Given the description of an element on the screen output the (x, y) to click on. 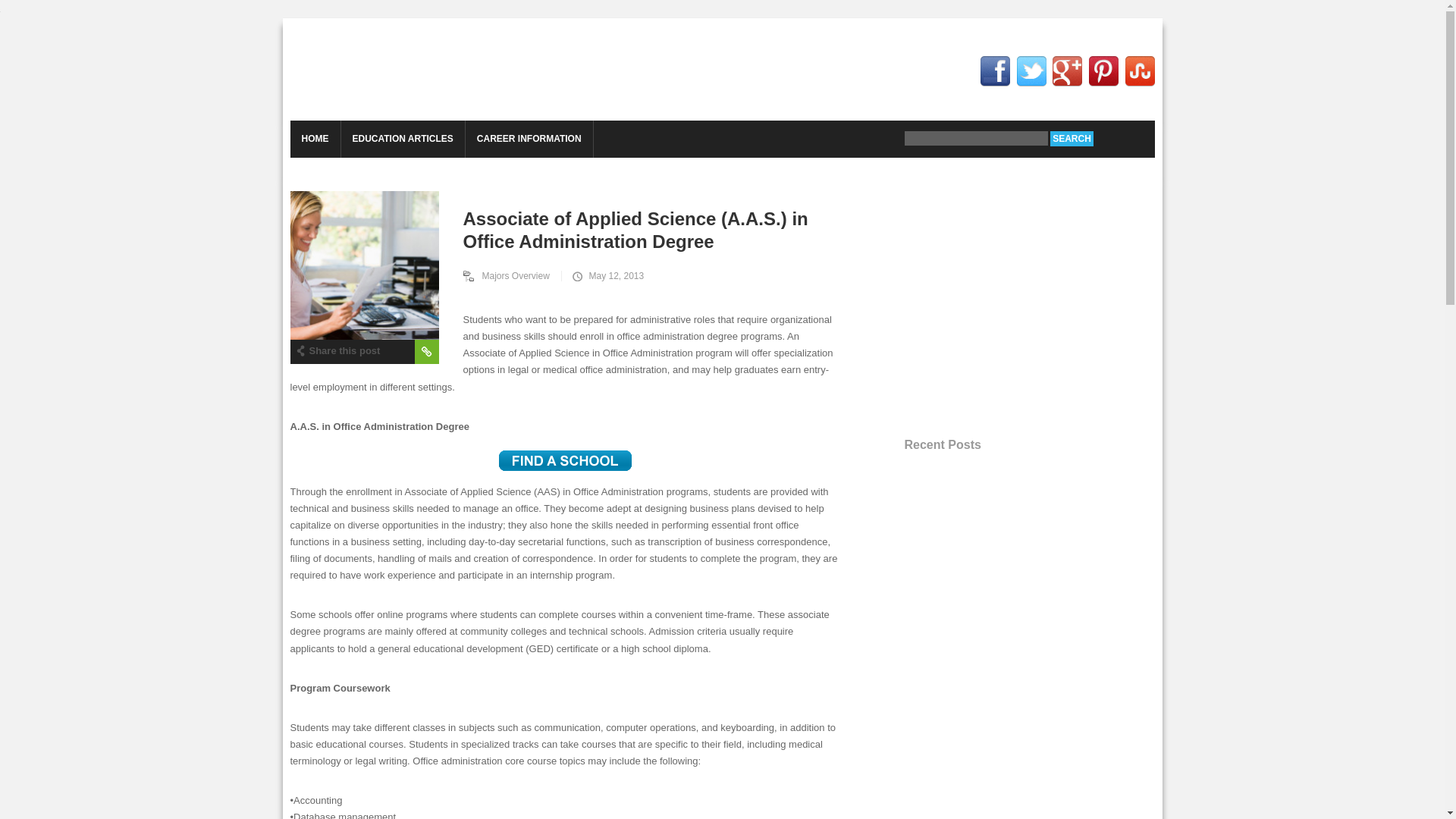
Search (1071, 138)
HOME (314, 139)
9:00 AM (606, 276)
Share this post (336, 349)
May 12, 2013 (606, 276)
Education Career Articles (406, 69)
Education Career Articles (406, 69)
Majors Overview (511, 276)
CAREER INFORMATION (528, 139)
Permalink (425, 351)
EDUCATION ARTICLES (402, 139)
